Given the description of an element on the screen output the (x, y) to click on. 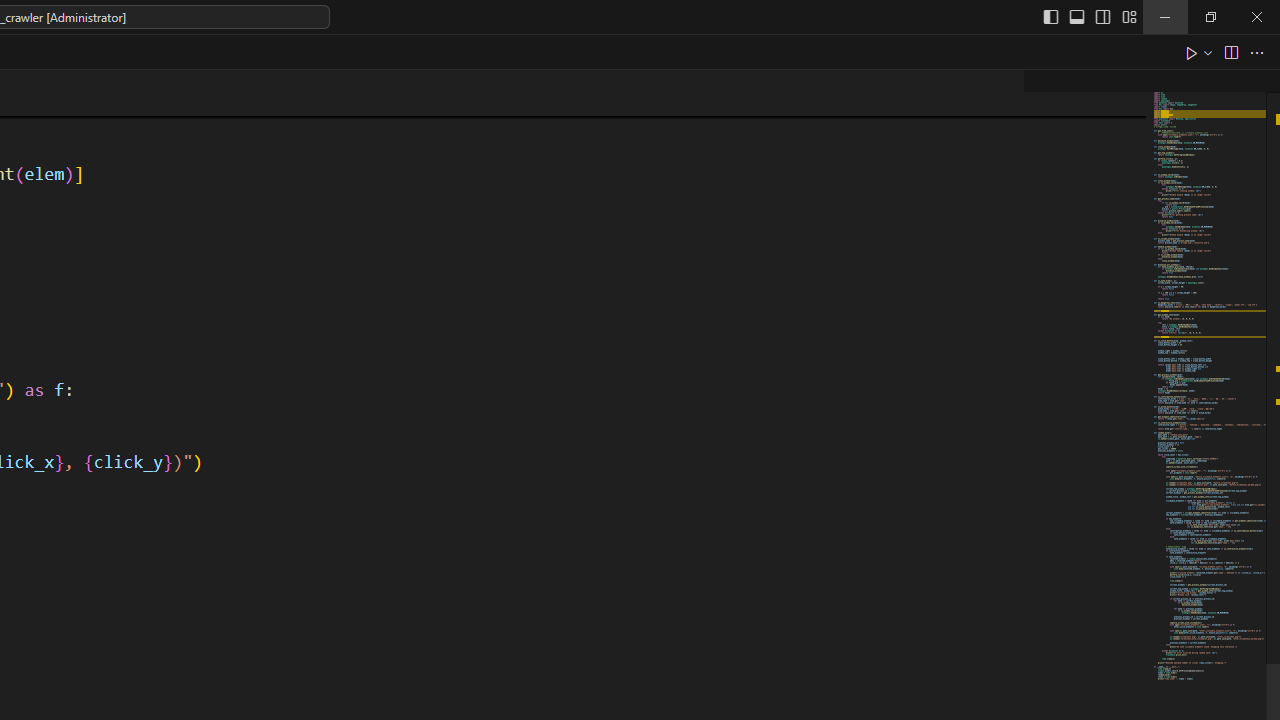
Title actions (1089, 16)
Run Python File (1192, 52)
Run or Debug... (1208, 52)
More Actions... (1256, 52)
Toggle Panel (Ctrl+J) (1077, 16)
Editor actions (1226, 52)
Toggle Secondary Side Bar (Ctrl+Alt+B) (1102, 16)
Customize Layout... (1128, 16)
Split Editor Right (Ctrl+\) [Alt] Split Editor Down (1230, 52)
Toggle Primary Side Bar (Ctrl+B) (1050, 16)
